Given the description of an element on the screen output the (x, y) to click on. 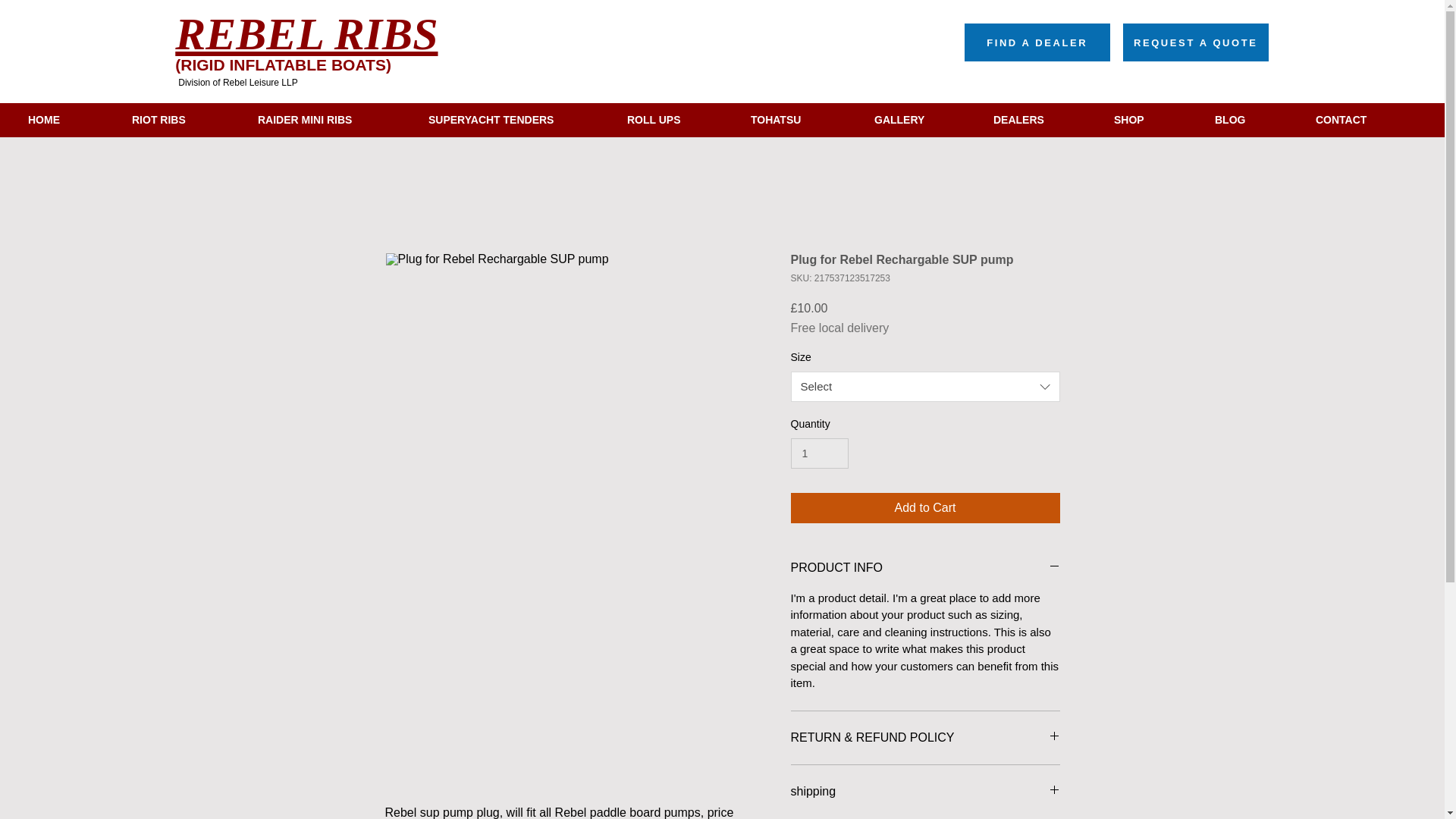
FIND A DEALER (1036, 42)
GALLERY (922, 120)
DEALERS (1041, 120)
CONTACT (1366, 120)
SUPERYACHT TENDERS (515, 120)
BLOG (1254, 120)
Free local delivery (839, 327)
SHOP (1153, 120)
TOHATSU (801, 120)
HOME (68, 120)
